Given the description of an element on the screen output the (x, y) to click on. 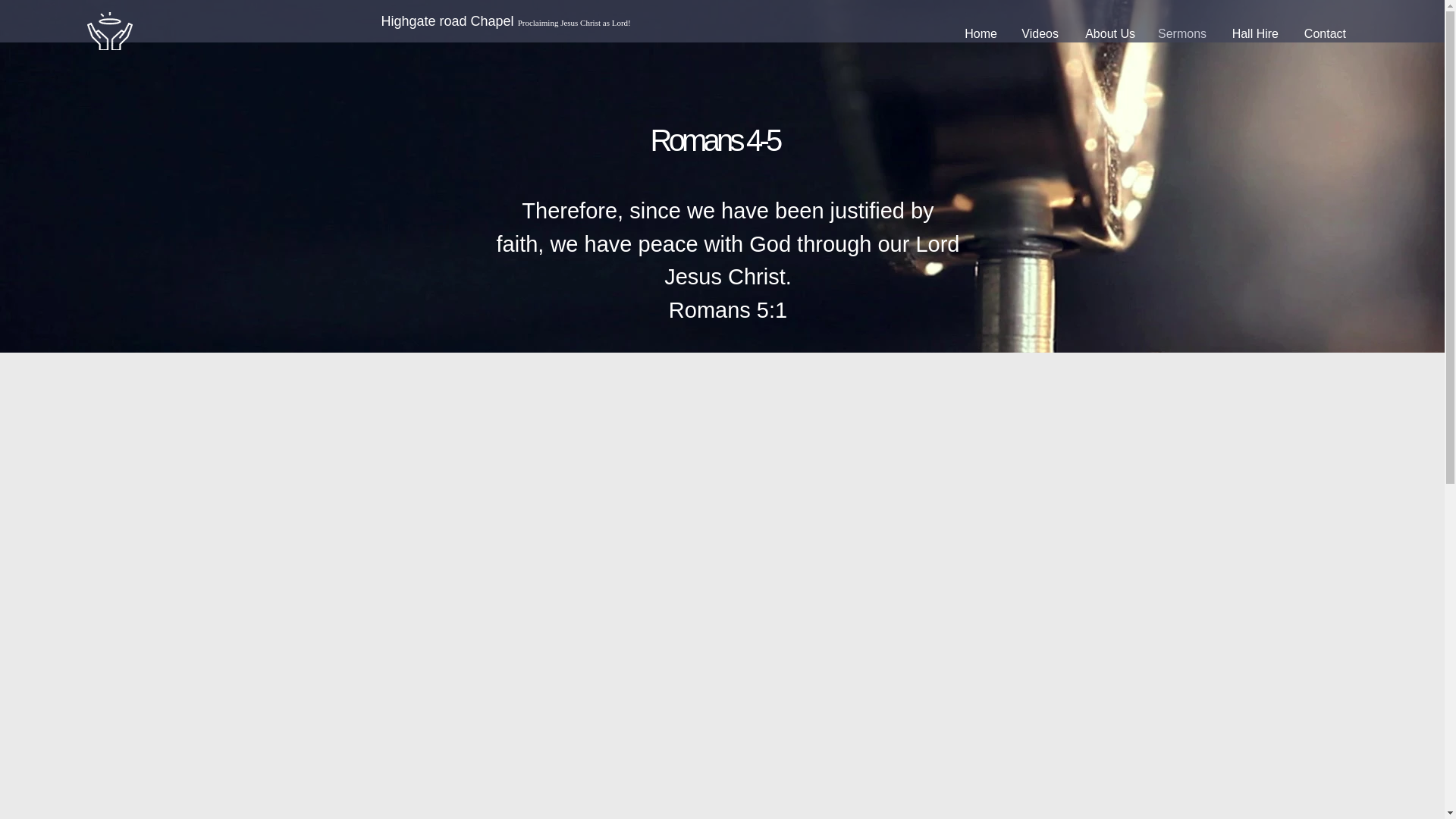
Sermons (1182, 34)
About Us (1108, 34)
Home (980, 34)
Contact (1323, 34)
Hall Hire (1253, 34)
Videos (1039, 34)
